Given the description of an element on the screen output the (x, y) to click on. 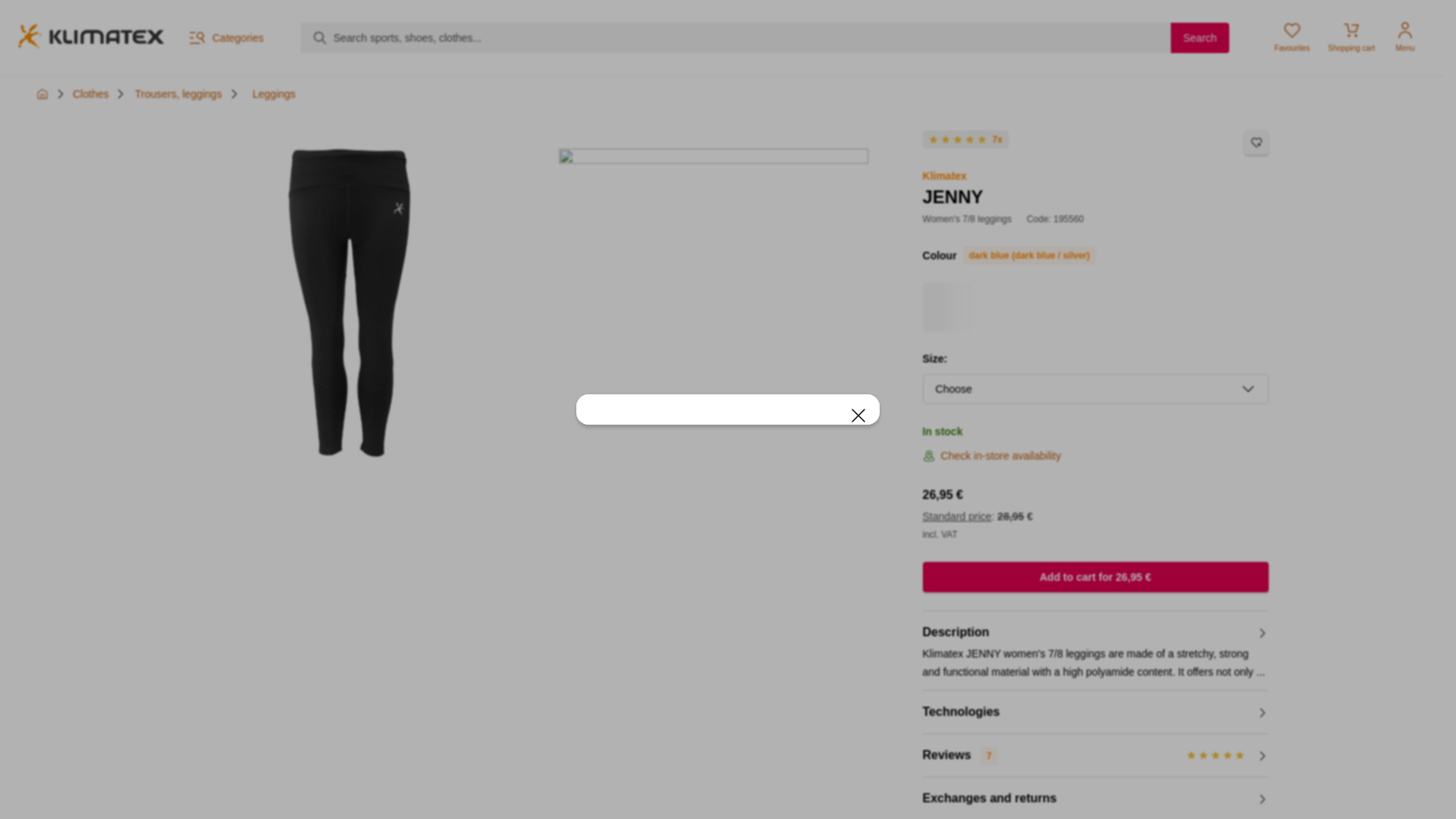
Clothes (89, 93)
Leggings (273, 93)
Shopping cart (1351, 37)
Clothes (89, 93)
Categories (225, 37)
Menu (1405, 37)
klimatex.eu (90, 37)
Leggings (273, 93)
Trousers, leggings (178, 93)
SPORTISIMO - EVERYTHING FOR SPORTS AND LEISURE TIME (42, 93)
